Given the description of an element on the screen output the (x, y) to click on. 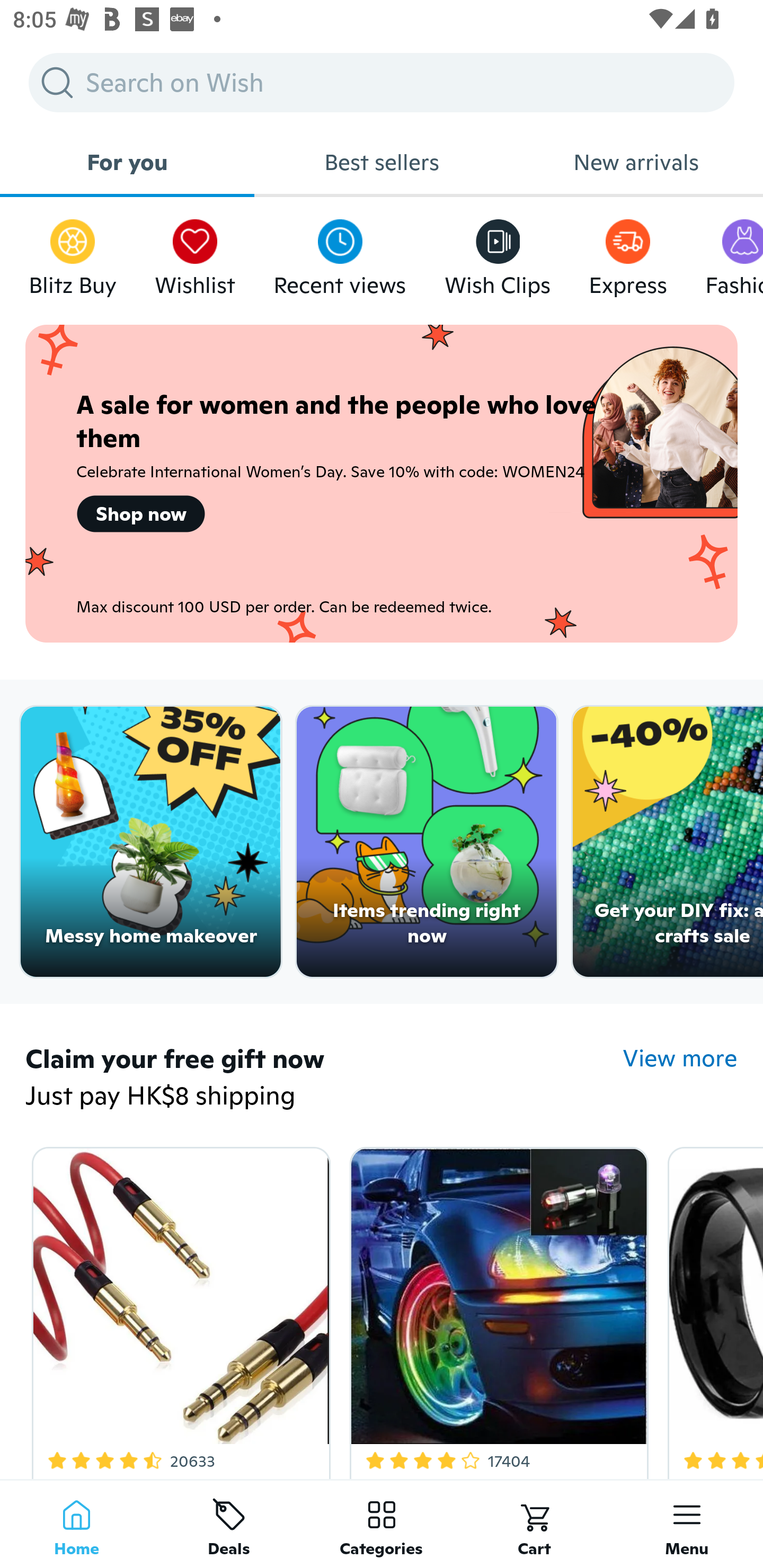
Search on Wish (381, 82)
For you (127, 161)
Best sellers (381, 161)
New arrivals (635, 161)
Blitz Buy (72, 252)
Wishlist (194, 252)
Recent views (339, 252)
Wish Clips (497, 252)
Express (627, 252)
Fashion (734, 252)
Messy home makeover (150, 841)
Items trending right now (426, 841)
Get your DIY fix: arts & crafts sale (668, 841)
Claim your free gift now
Just pay HK$8 shipping (323, 1078)
View more (679, 1058)
4.3 Star Rating 20633 Free (177, 1308)
3.8 Star Rating 17404 Free (495, 1308)
Home (76, 1523)
Deals (228, 1523)
Categories (381, 1523)
Cart (533, 1523)
Menu (686, 1523)
